Given the description of an element on the screen output the (x, y) to click on. 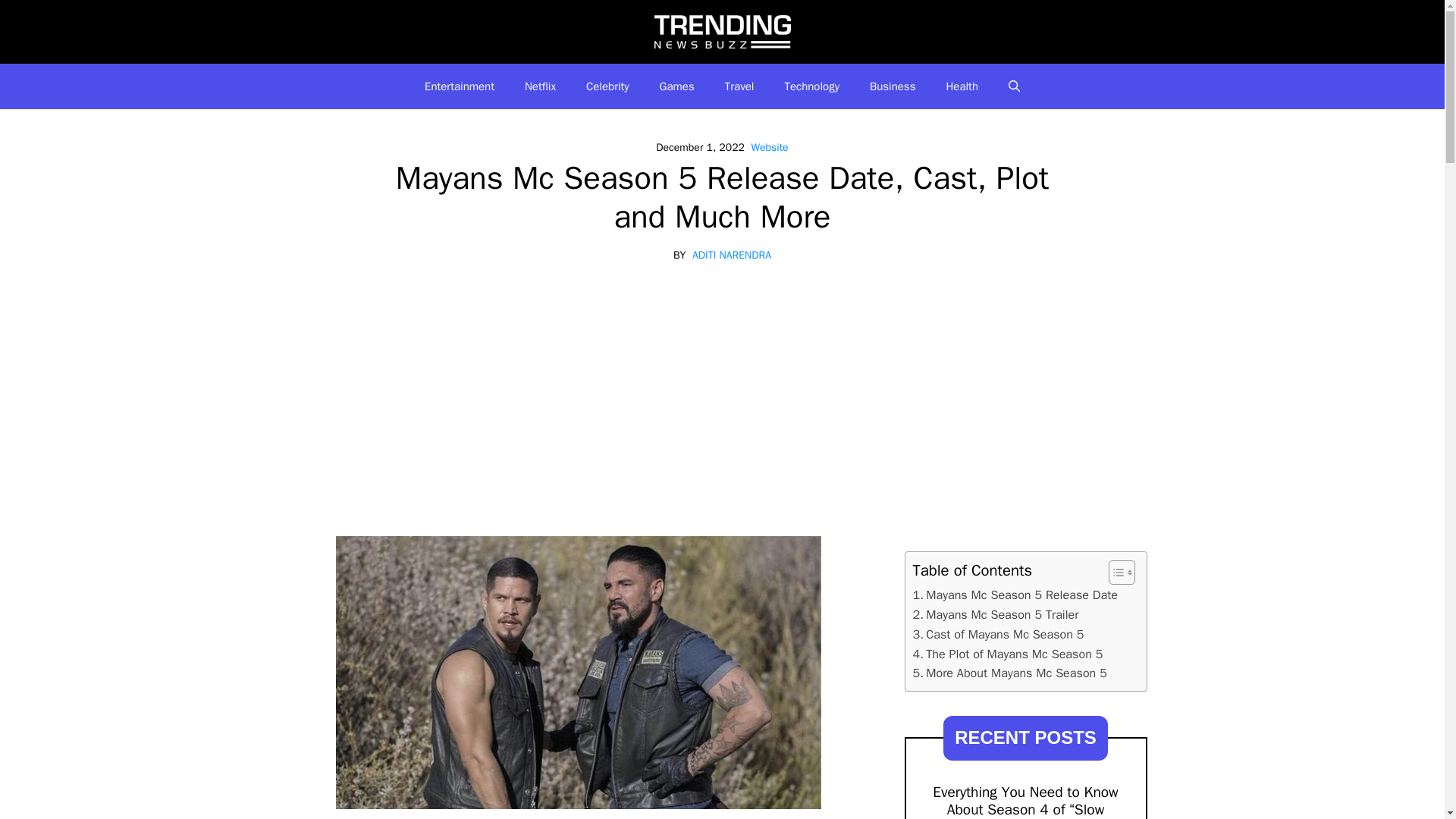
Health (961, 85)
Mayans Mc Season 5 Trailer (995, 614)
Website (769, 146)
Netflix (539, 85)
More About Mayans Mc Season 5 (1009, 673)
Entertainment (459, 85)
Mayans Mc Season 5 Release Date (1015, 595)
Technology (811, 85)
The Plot of Mayans Mc Season 5 (1007, 654)
Business (892, 85)
